Given the description of an element on the screen output the (x, y) to click on. 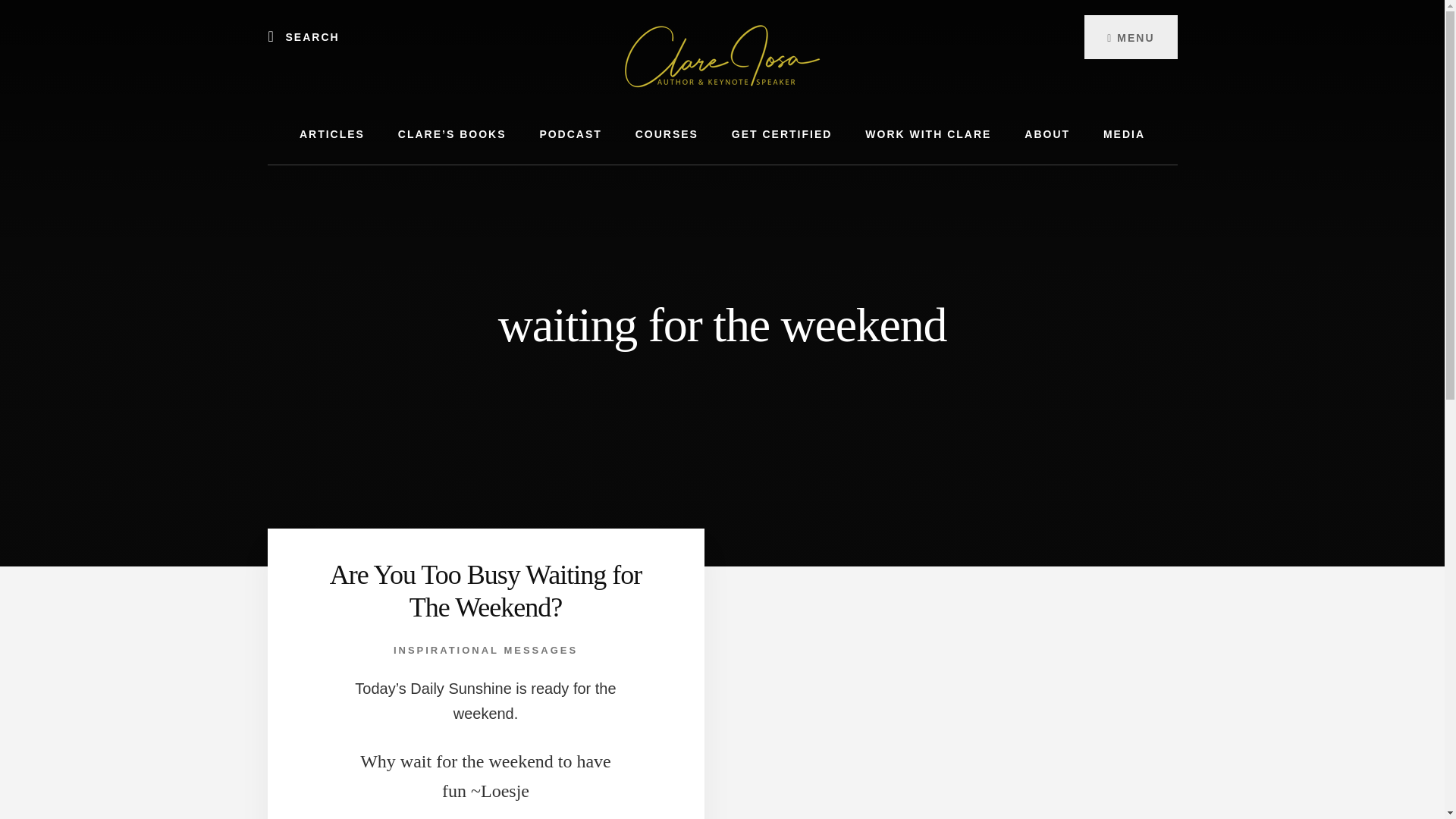
Are You Too Busy Waiting for The Weekend? (486, 590)
ABOUT (1046, 134)
PODCAST (569, 134)
MEDIA (1123, 134)
INSPIRATIONAL MESSAGES (485, 650)
WORK WITH CLARE (928, 134)
MENU (1130, 36)
COURSES (666, 134)
GET CERTIFIED (781, 134)
ARTICLES (331, 134)
